Given the description of an element on the screen output the (x, y) to click on. 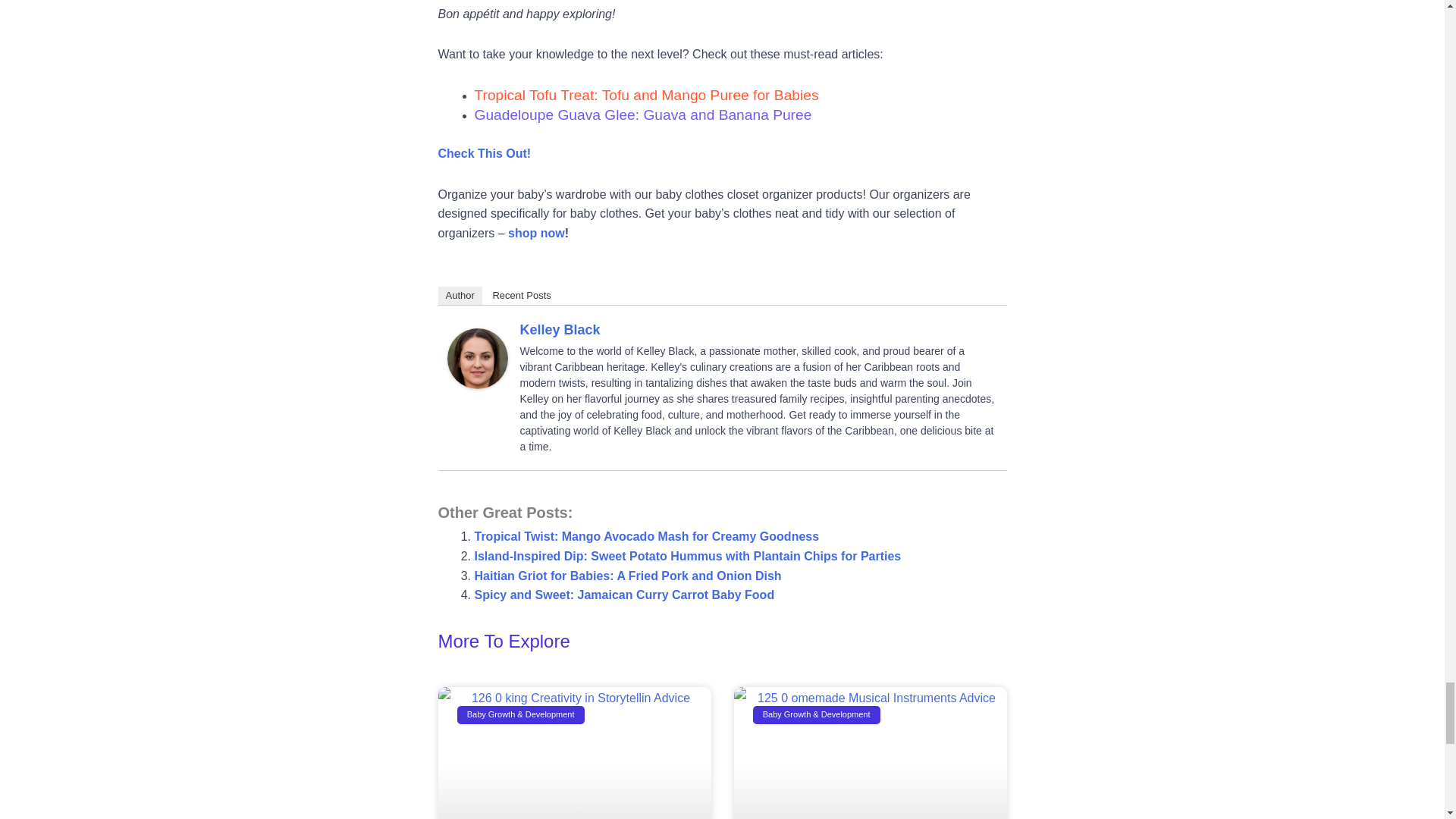
Tropical Twist: Mango Avocado Mash for Creamy Goodness (646, 535)
Kelley Black (477, 358)
